Given the description of an element on the screen output the (x, y) to click on. 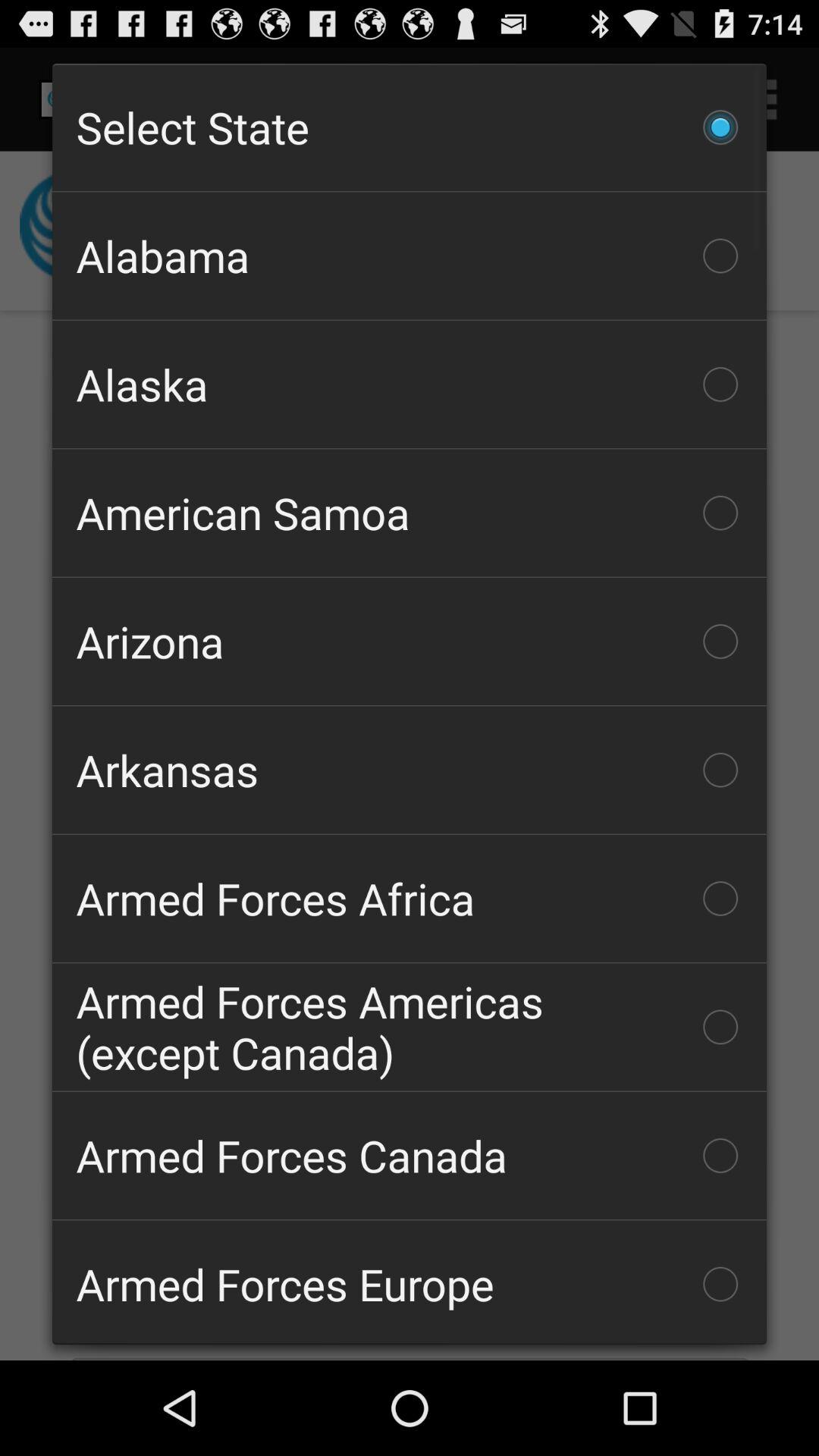
open the alabama item (409, 255)
